Given the description of an element on the screen output the (x, y) to click on. 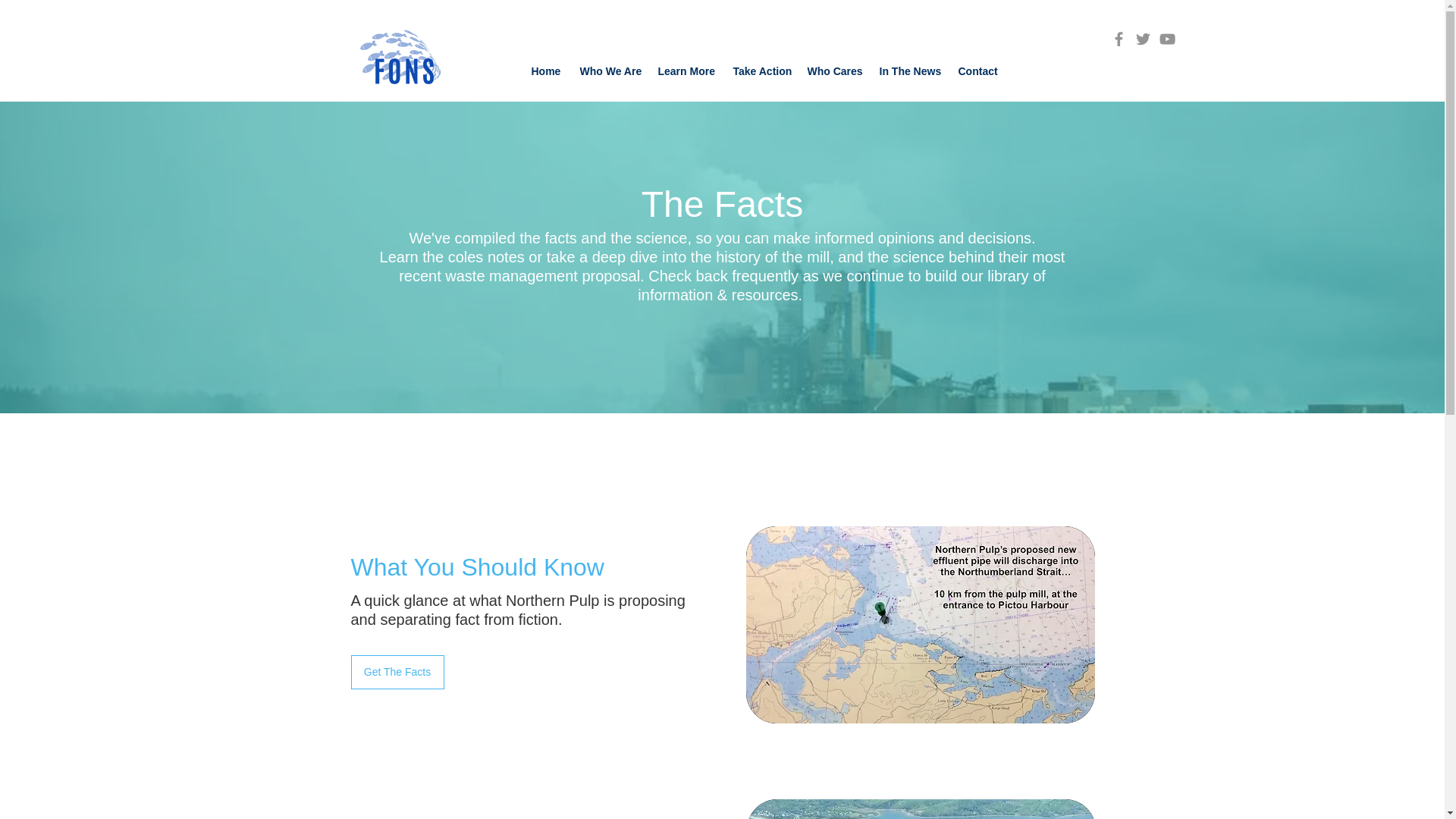
Contact (978, 71)
Home (547, 71)
Get The Facts (397, 672)
In The News (911, 71)
Who Cares (834, 71)
Learn More (687, 71)
Site Search (1171, 71)
Who We Are (610, 71)
Take Action (762, 71)
